Given the description of an element on the screen output the (x, y) to click on. 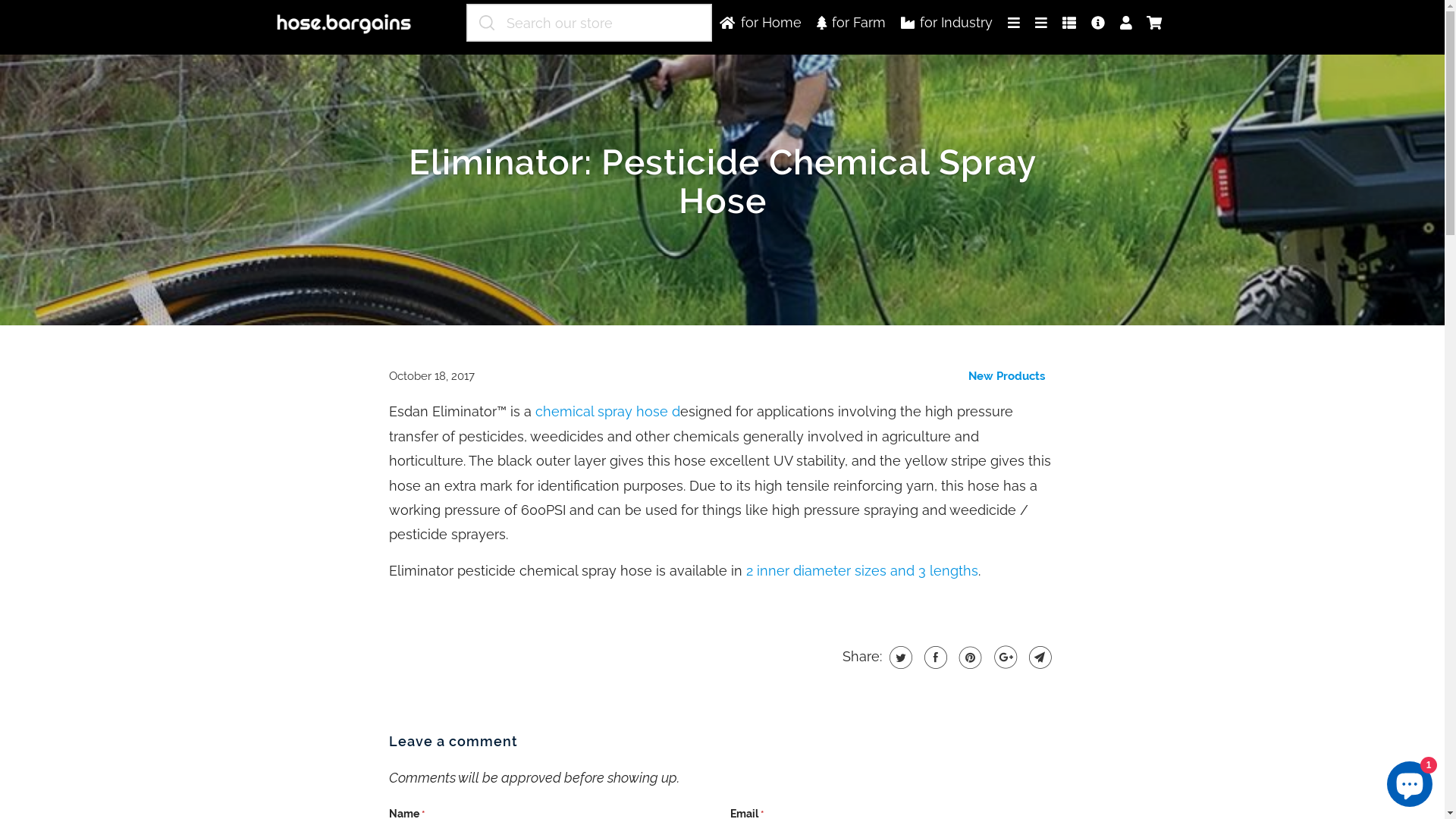
for Home Element type: text (760, 22)
2 inner diameter sizes and 3 lengths Element type: text (862, 570)
for Industry Element type: text (946, 22)
New Products Element type: text (1005, 375)
Share this on Twitter Element type: hover (898, 657)
Email this to a friend Element type: hover (1038, 657)
Share this on Pinterest Element type: hover (968, 657)
Share this on Google+ Element type: hover (1003, 657)
chemical spray hose d Element type: text (607, 411)
hose.bargains Element type: hover (351, 25)
for Farm Element type: text (850, 22)
Share this on Facebook Element type: hover (933, 657)
Shopify online store chat Element type: hover (1409, 780)
